Given the description of an element on the screen output the (x, y) to click on. 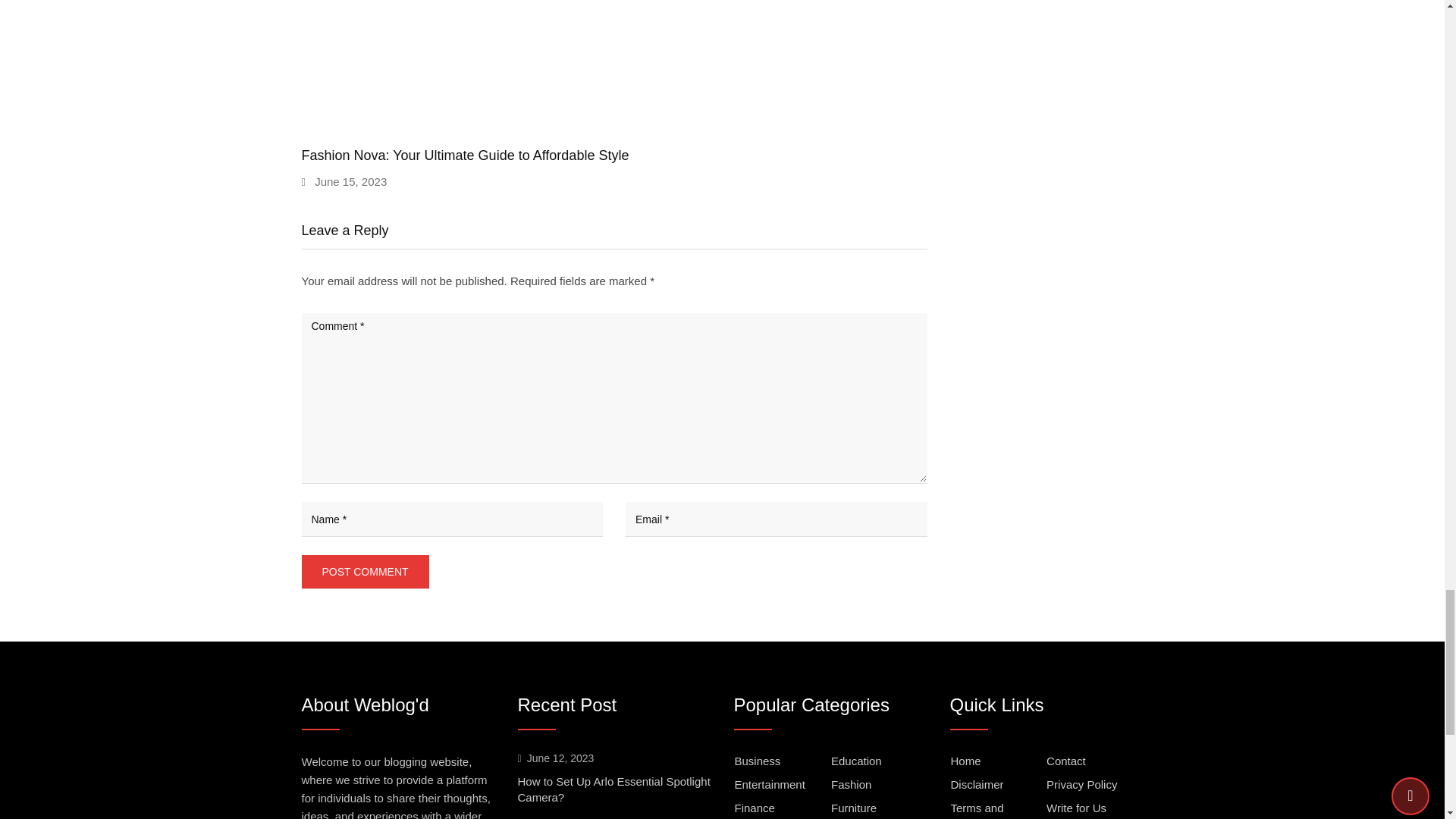
Post Comment (365, 571)
